Given the description of an element on the screen output the (x, y) to click on. 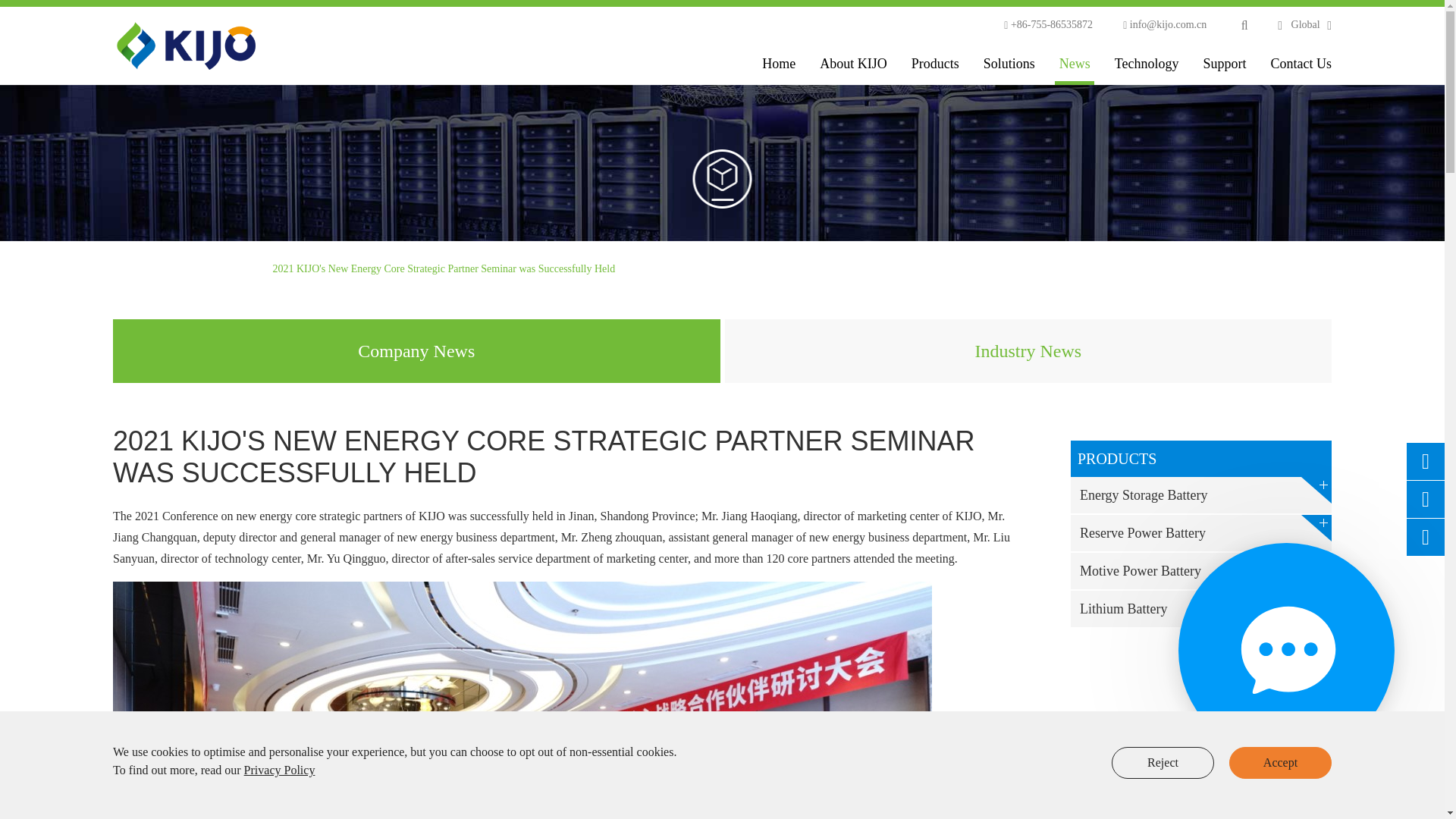
News (164, 268)
submit (1162, 96)
Company News (224, 268)
Products (935, 64)
Global (1304, 24)
About KIJO (852, 64)
